Given the description of an element on the screen output the (x, y) to click on. 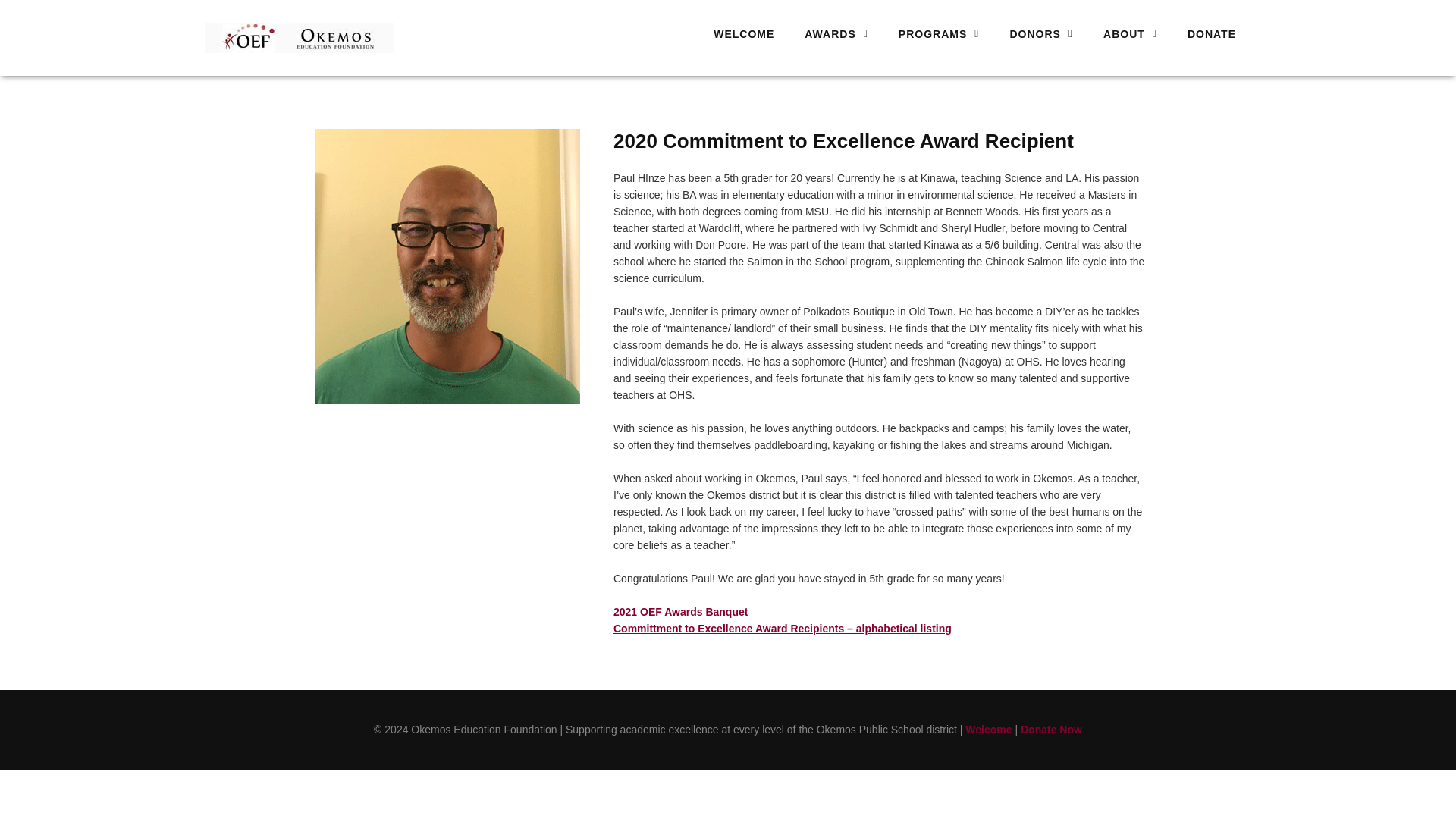
DONATE (1211, 33)
AWARDS (836, 33)
PROGRAMS (938, 33)
ABOUT (1129, 33)
WELCOME (743, 33)
DONORS (1040, 33)
